Given the description of an element on the screen output the (x, y) to click on. 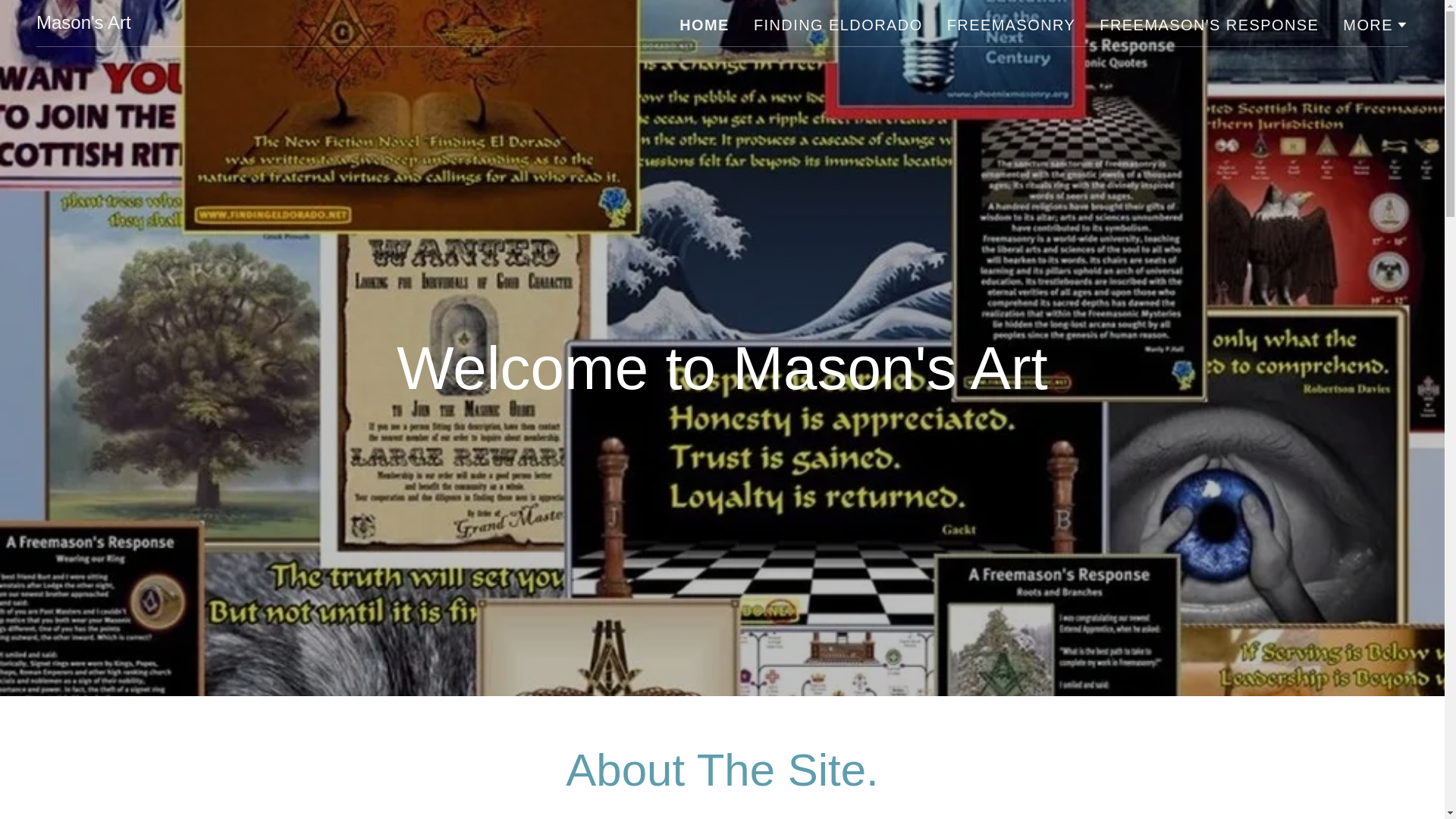
Mason's Art (83, 22)
FREEMASONRY (1011, 24)
Mason's Art (83, 22)
HOME (704, 24)
MORE (1374, 24)
FREEMASON'S RESPONSE (1208, 24)
FINDING ELDORADO (838, 24)
